Given the description of an element on the screen output the (x, y) to click on. 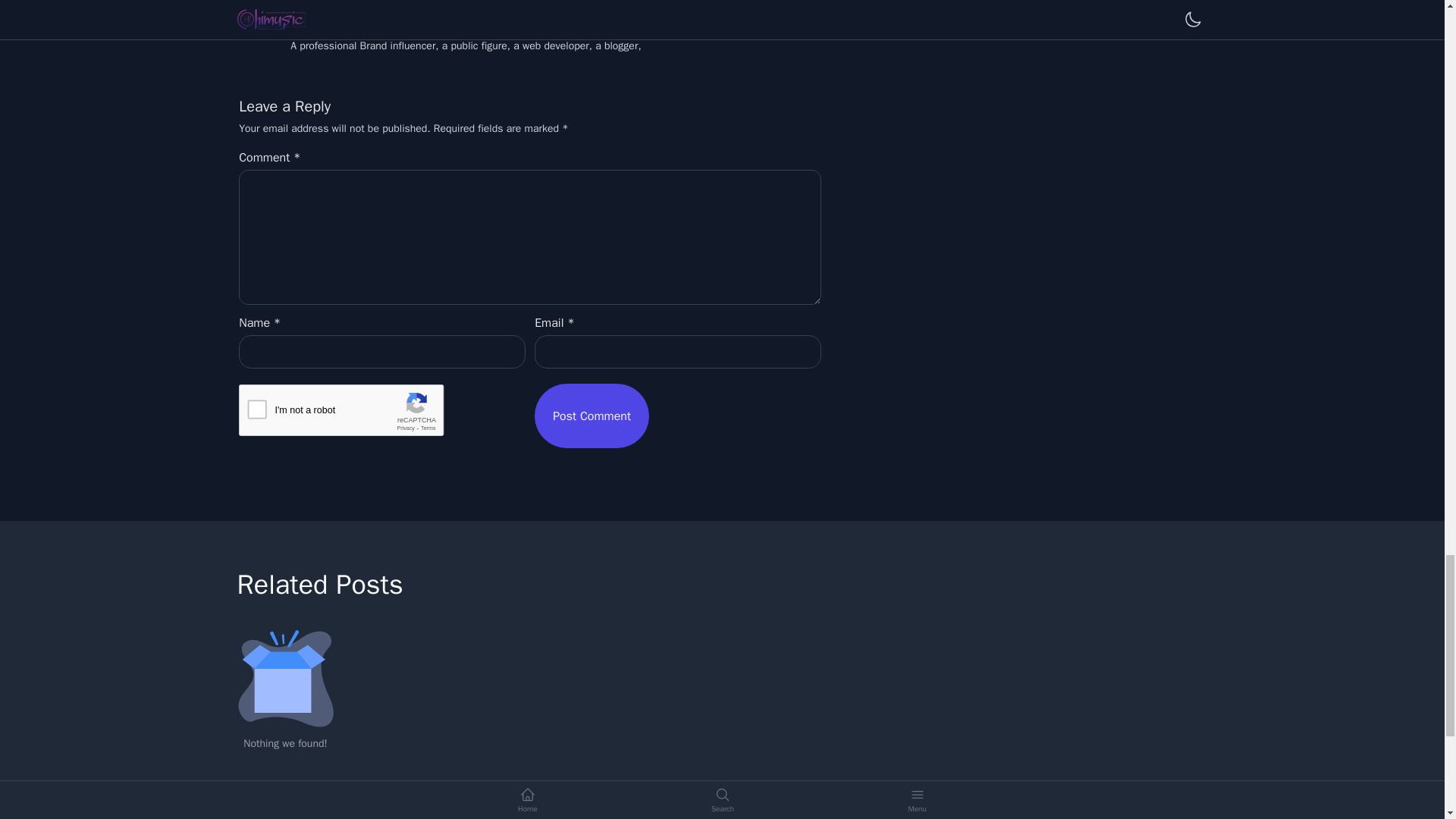
Post Comment (591, 416)
reCAPTCHA (353, 413)
Dennisblorg (333, 27)
Post Comment (591, 416)
